Given the description of an element on the screen output the (x, y) to click on. 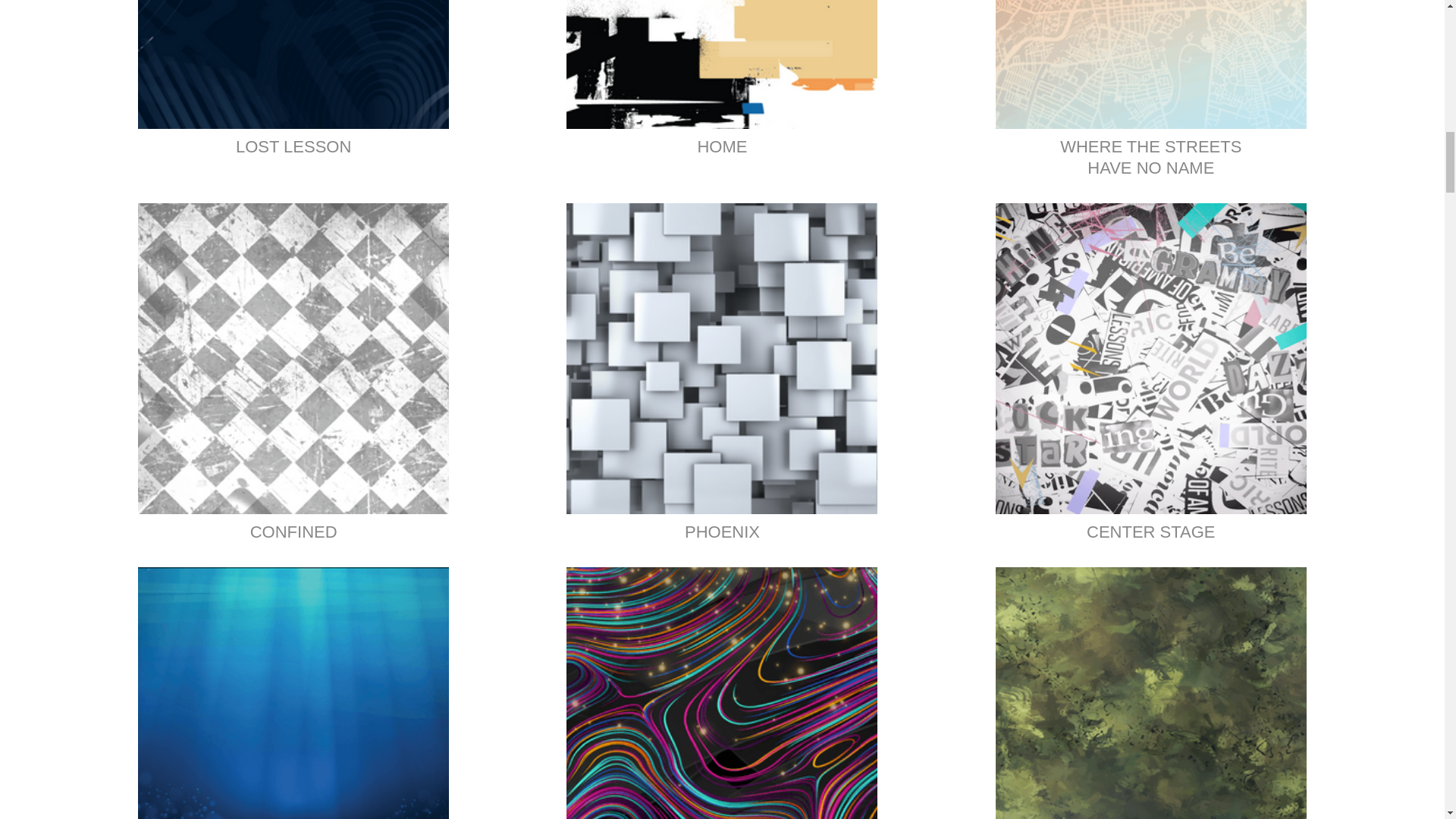
SURVIVOR (1150, 693)
EUPHORIA (721, 693)
WHERE THE STREETS HAVE NO NAME (1150, 95)
HOME (721, 84)
BENEATH THE SURFACE (293, 693)
LOST LESSON (293, 84)
